Given the description of an element on the screen output the (x, y) to click on. 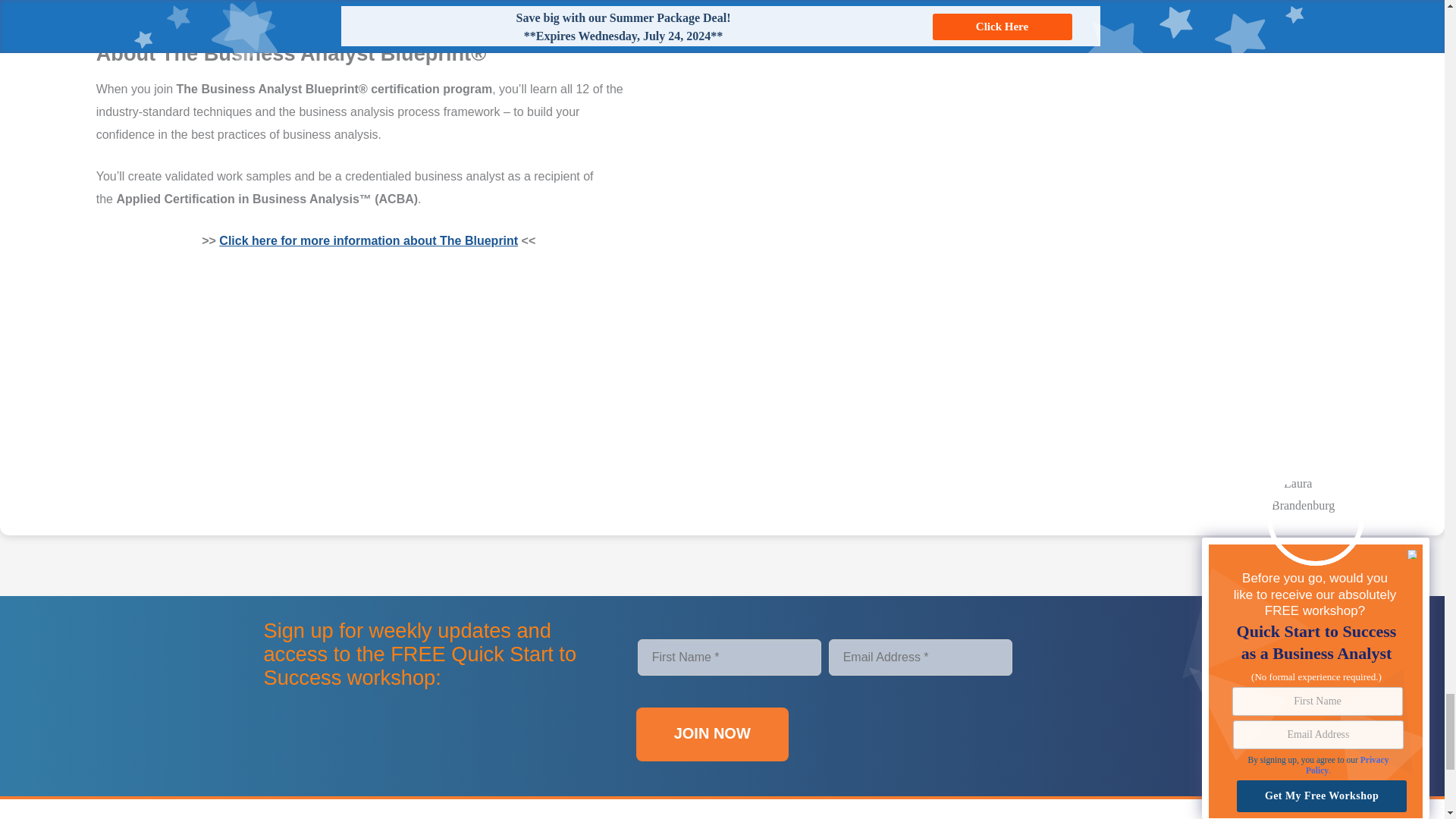
JOIN NOW (712, 734)
Click here for more information about The Blueprint (368, 240)
